Given the description of an element on the screen output the (x, y) to click on. 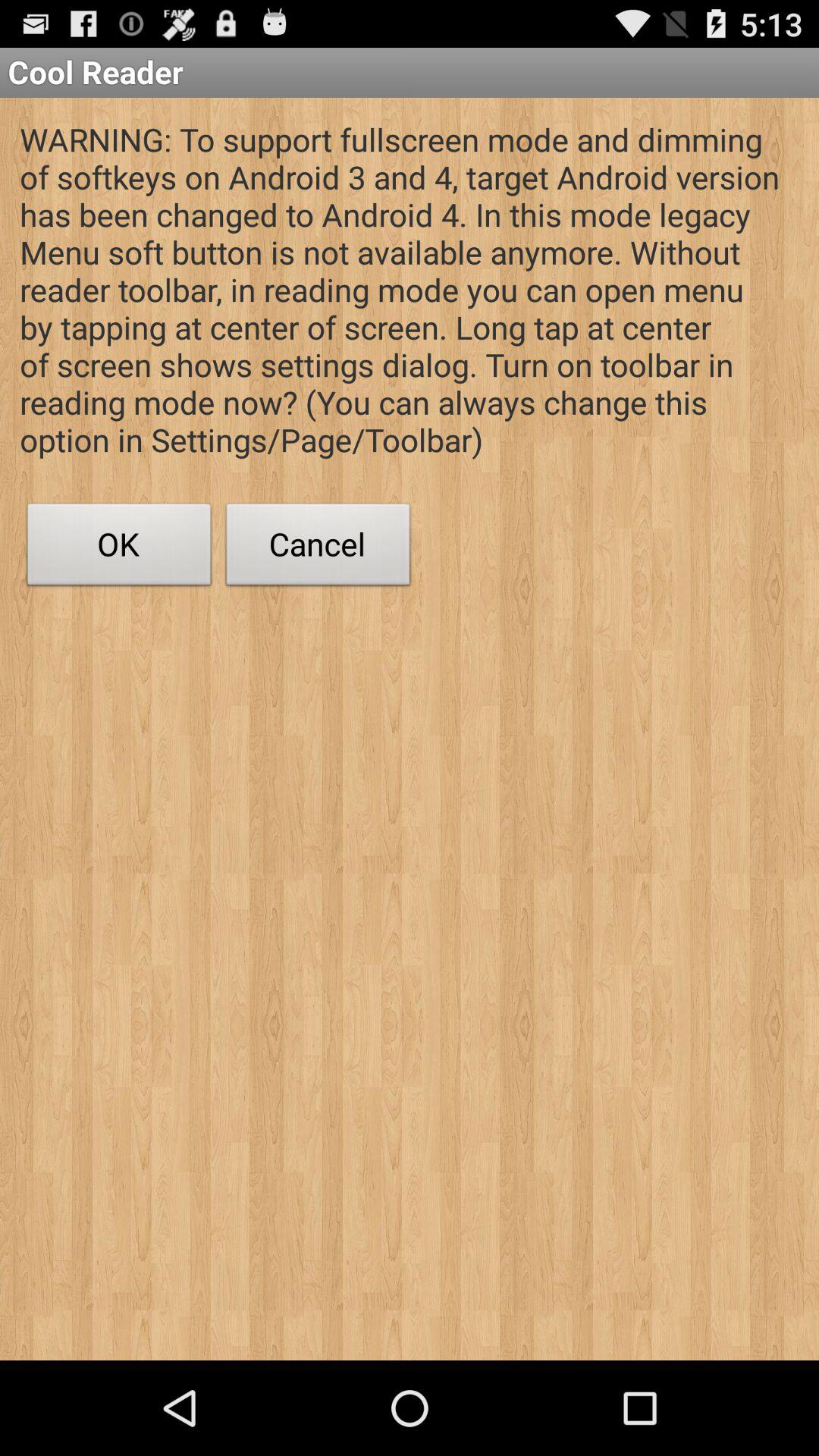
select the cancel icon (318, 548)
